Given the description of an element on the screen output the (x, y) to click on. 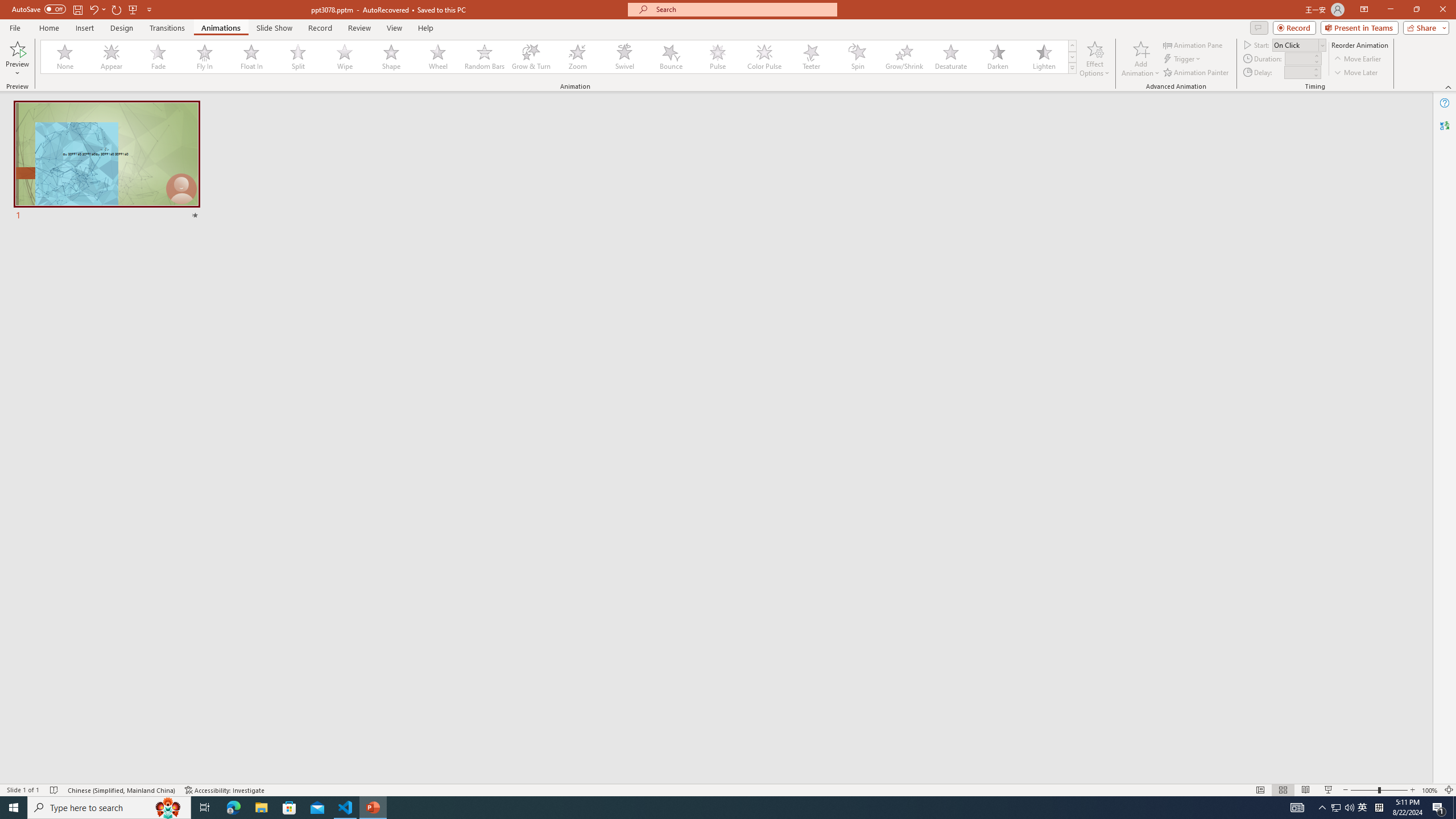
Color Pulse (764, 56)
AutomationID: AnimationGallery (558, 56)
Animation Painter (1196, 72)
